Given the description of an element on the screen output the (x, y) to click on. 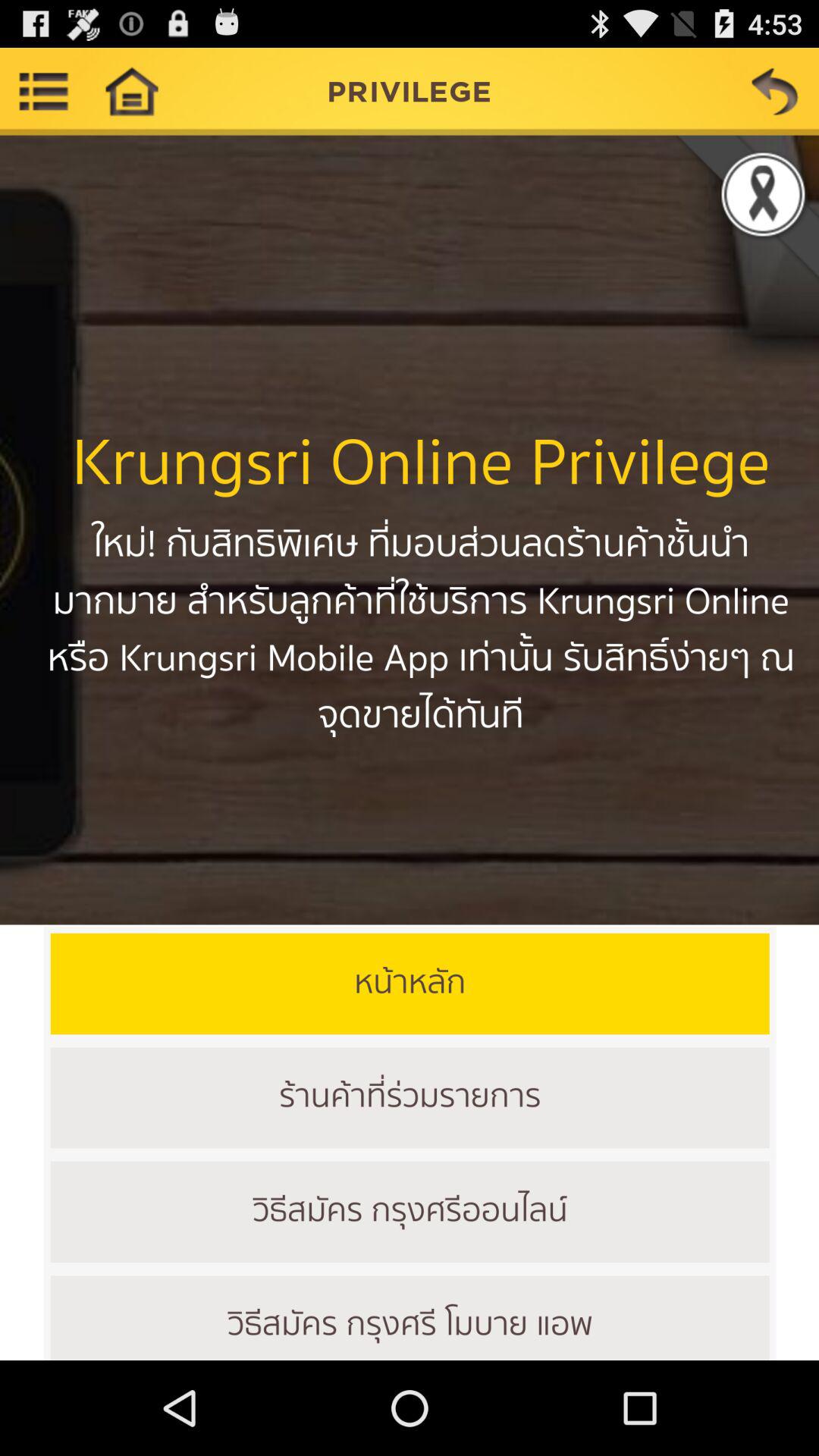
go to previous (775, 91)
